Given the description of an element on the screen output the (x, y) to click on. 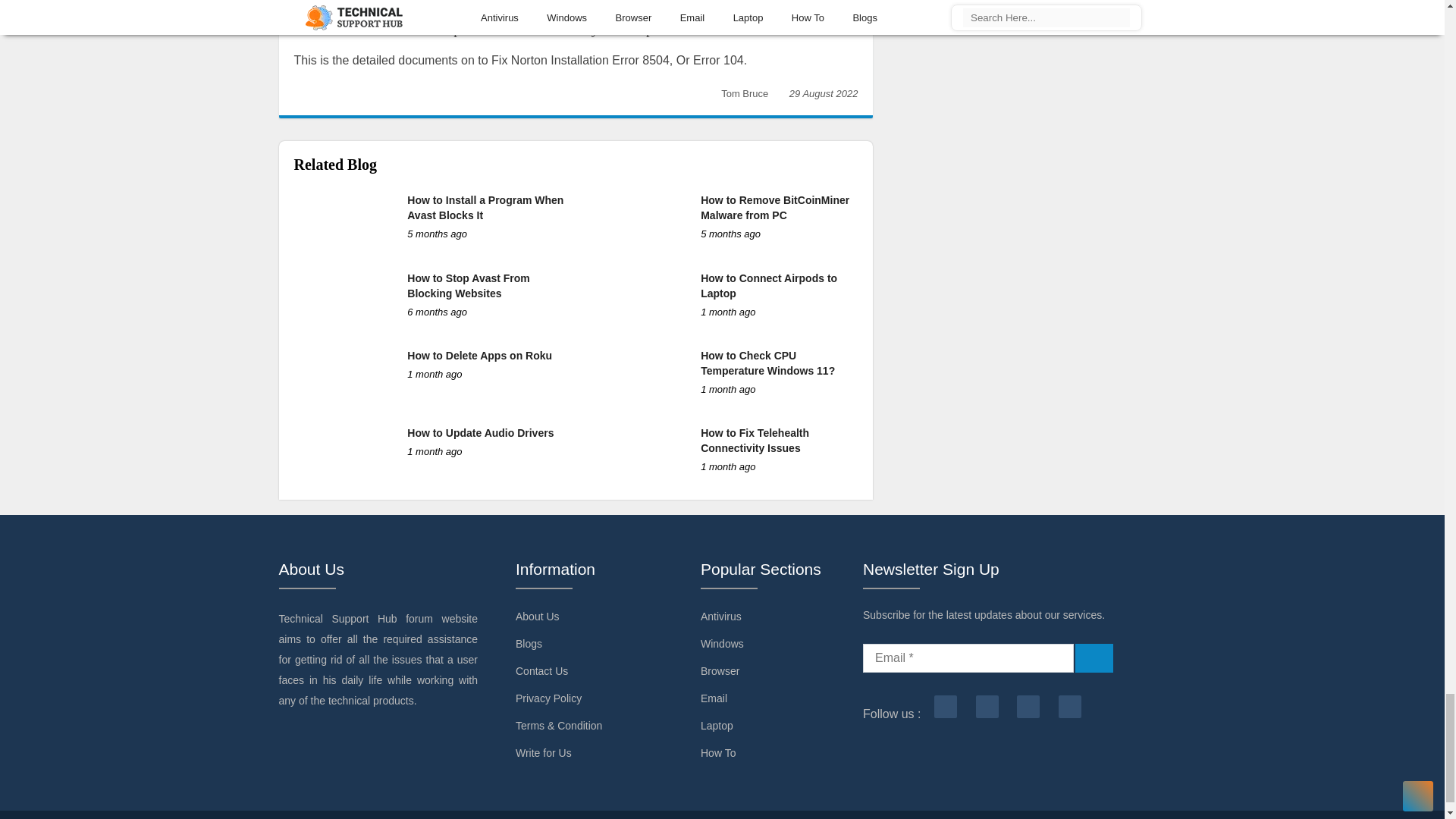
How to Stop Avast From Blocking Websites (468, 285)
How to Connect Airpods to Laptop (768, 285)
How to Check CPU Temperature Windows 11? (767, 362)
How to Fix Telehealth Connectivity Issues (754, 440)
How to Update Audio Drivers (480, 432)
How to Remove BitCoinMiner Malware from PC (774, 207)
How to Install a Program When Avast Blocks It (485, 207)
How to Delete Apps on Roku (479, 355)
